Given the description of an element on the screen output the (x, y) to click on. 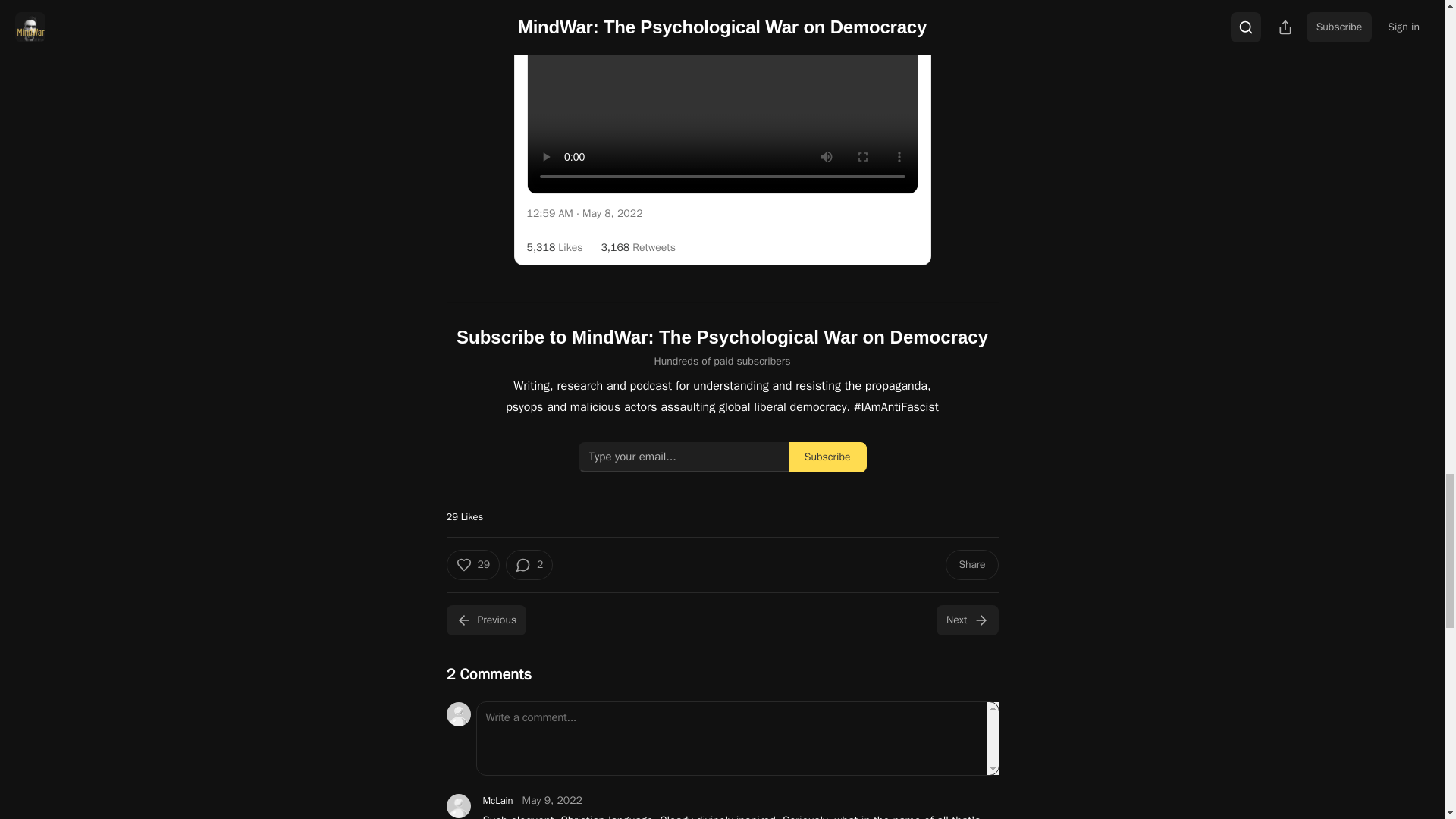
29 Likes (464, 515)
29 (472, 563)
Subscribe (827, 456)
